Given the description of an element on the screen output the (x, y) to click on. 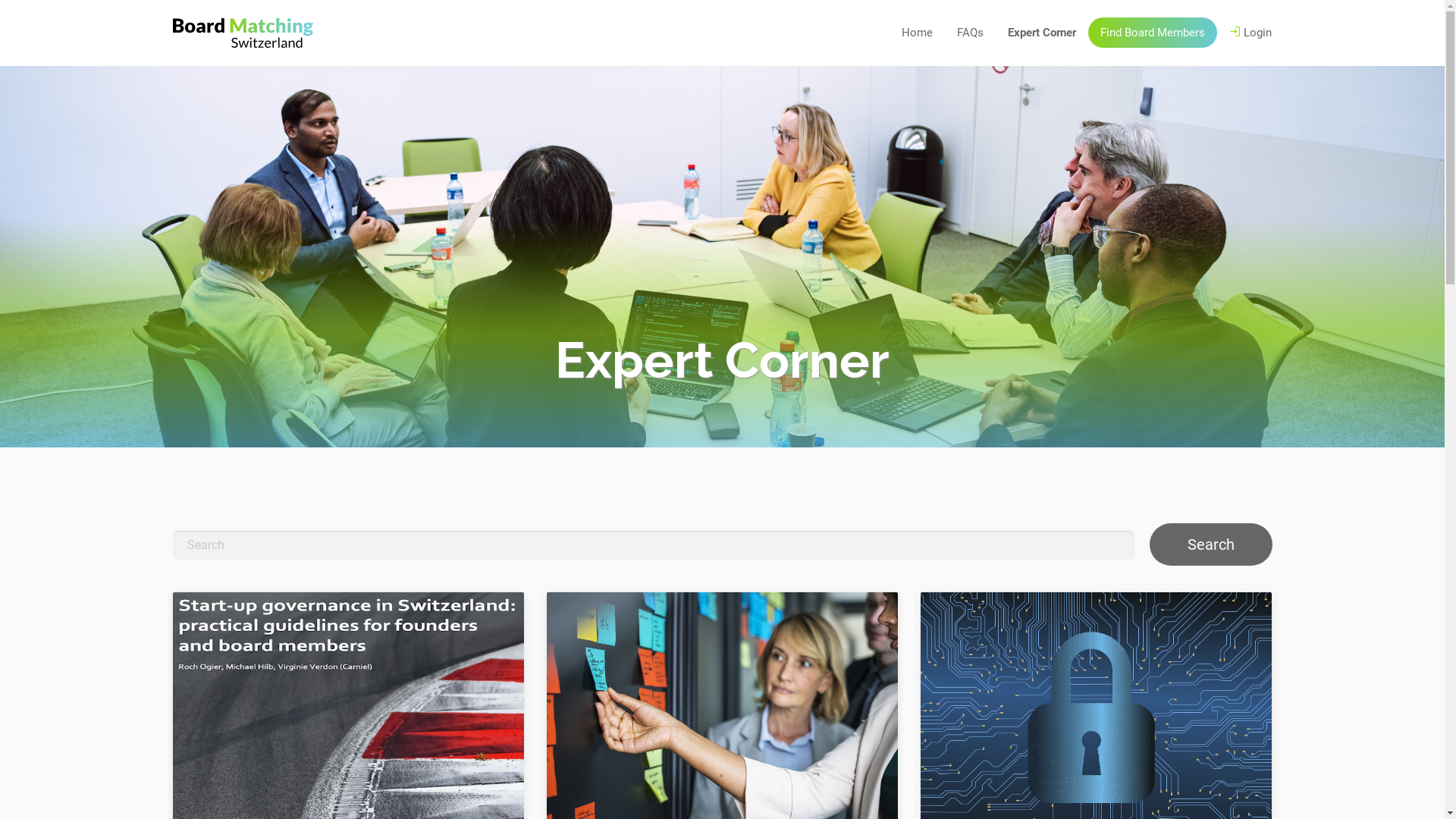
Find Board Members Element type: text (1152, 32)
Login Element type: text (1250, 32)
Search Element type: text (1210, 544)
Home Element type: text (916, 32)
Board Matching Switzerland Element type: hover (242, 32)
Expert Corner Element type: text (1041, 32)
FAQs Element type: text (969, 32)
